Given the description of an element on the screen output the (x, y) to click on. 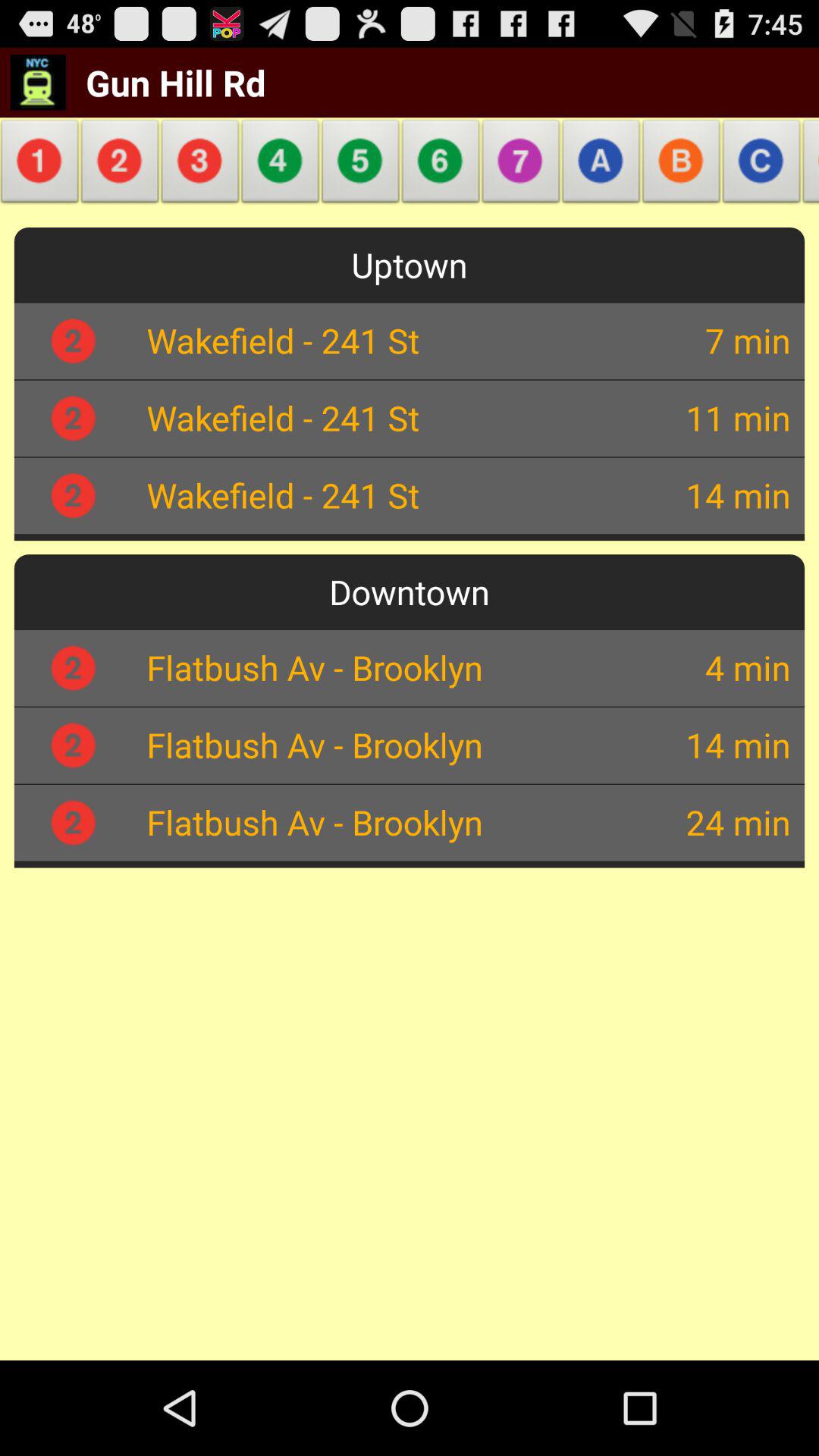
tap app above uptown item (360, 165)
